Given the description of an element on the screen output the (x, y) to click on. 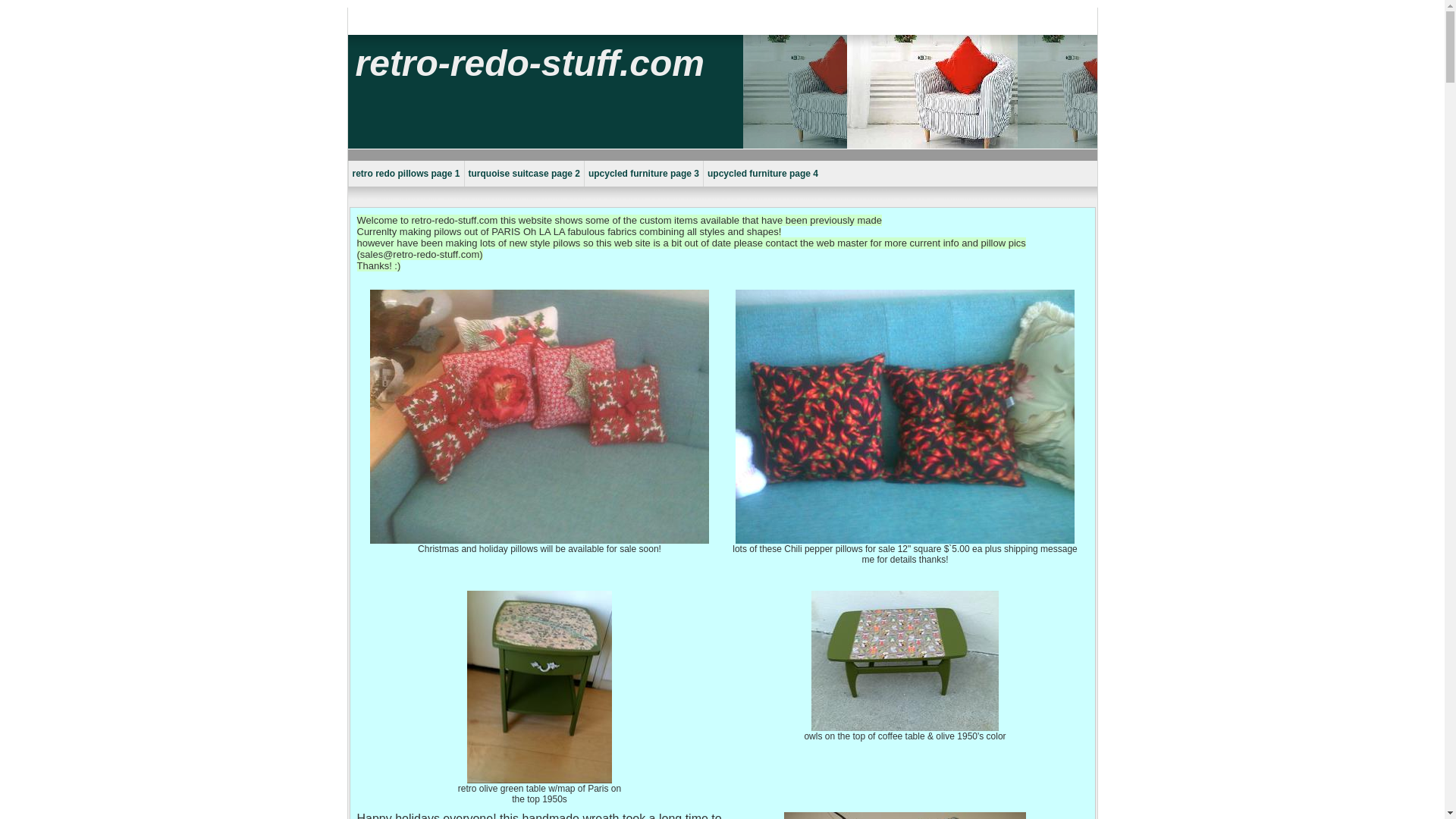
upcycled furniture page 3 (643, 173)
retro redo pillows page 1 (405, 173)
upcycled furniture page 4 (762, 173)
turquoise suitcase page 2 (523, 173)
